Given the description of an element on the screen output the (x, y) to click on. 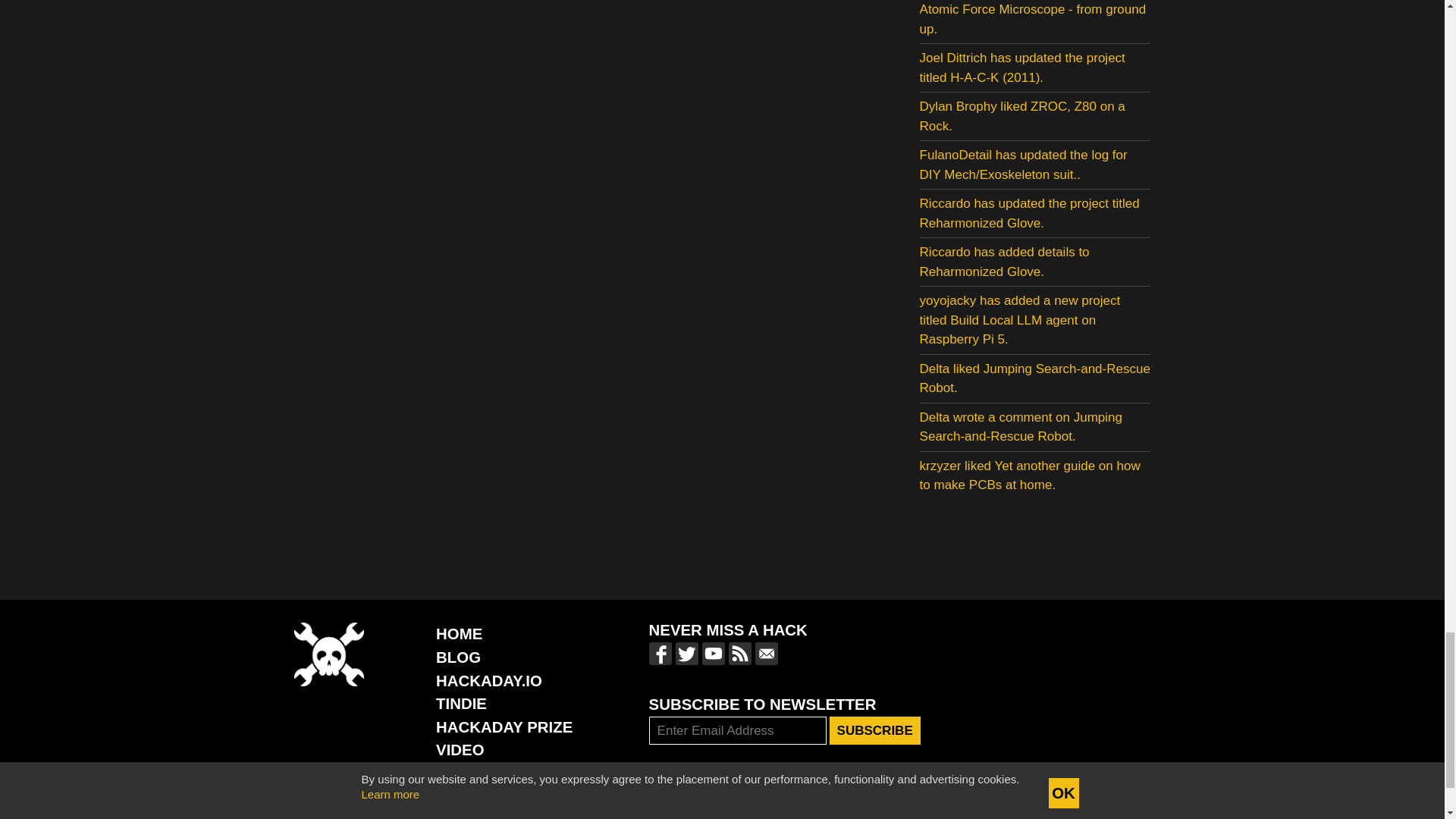
Build Something that Matters (503, 727)
Subscribe (874, 730)
